Given the description of an element on the screen output the (x, y) to click on. 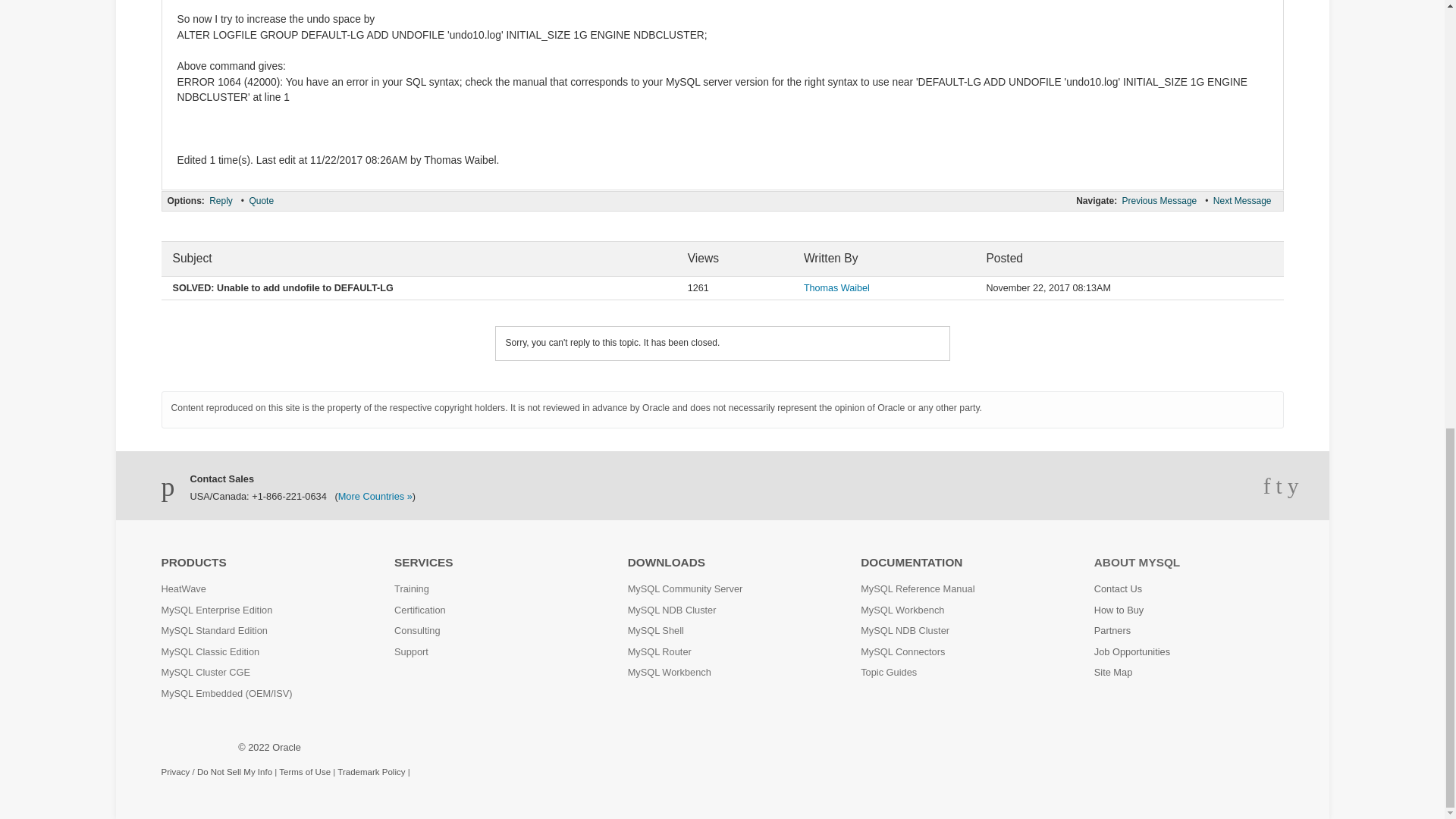
Thomas Waibel (836, 287)
Previous Message (1159, 200)
Quote (261, 200)
Next Message (1242, 200)
Reply (220, 200)
